Given the description of an element on the screen output the (x, y) to click on. 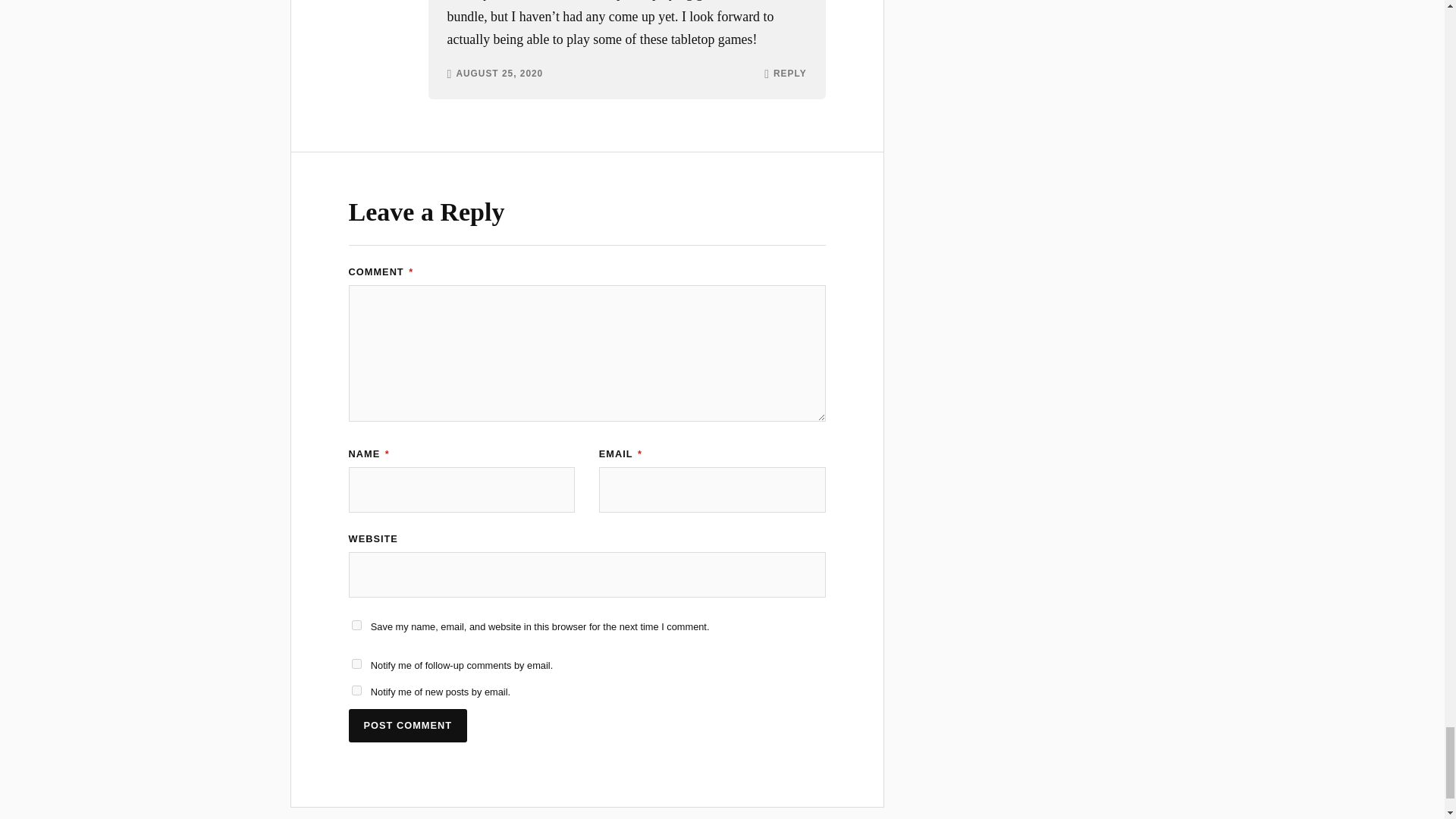
subscribe (356, 664)
Post Comment (408, 725)
subscribe (356, 690)
yes (356, 624)
